Given the description of an element on the screen output the (x, y) to click on. 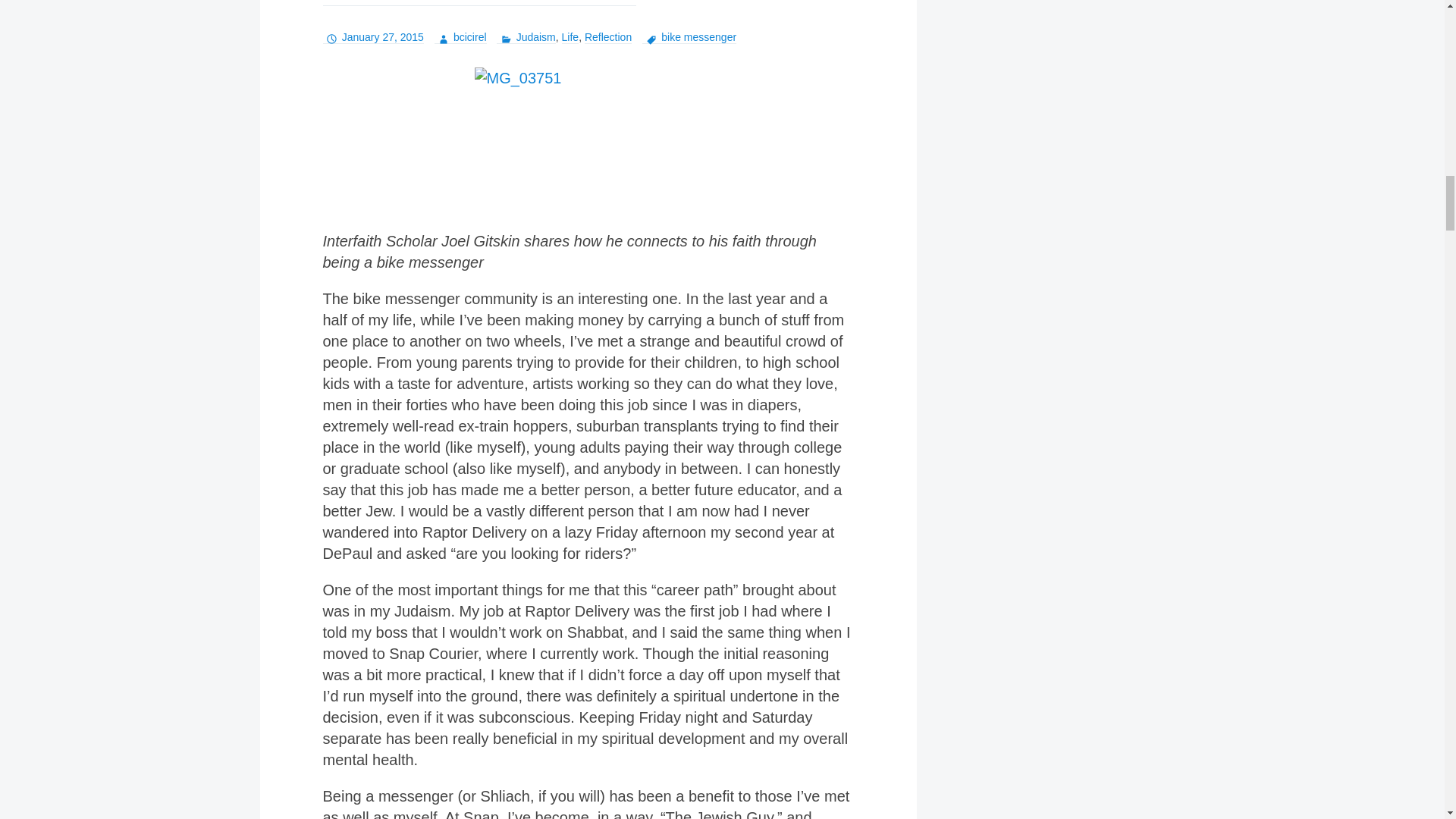
bcicirel (459, 37)
Reflection (608, 37)
bike messenger (689, 37)
Judaism (525, 37)
January 27, 2015 (373, 37)
A Jew on Two Wheels (479, 2)
Life (570, 37)
